Given the description of an element on the screen output the (x, y) to click on. 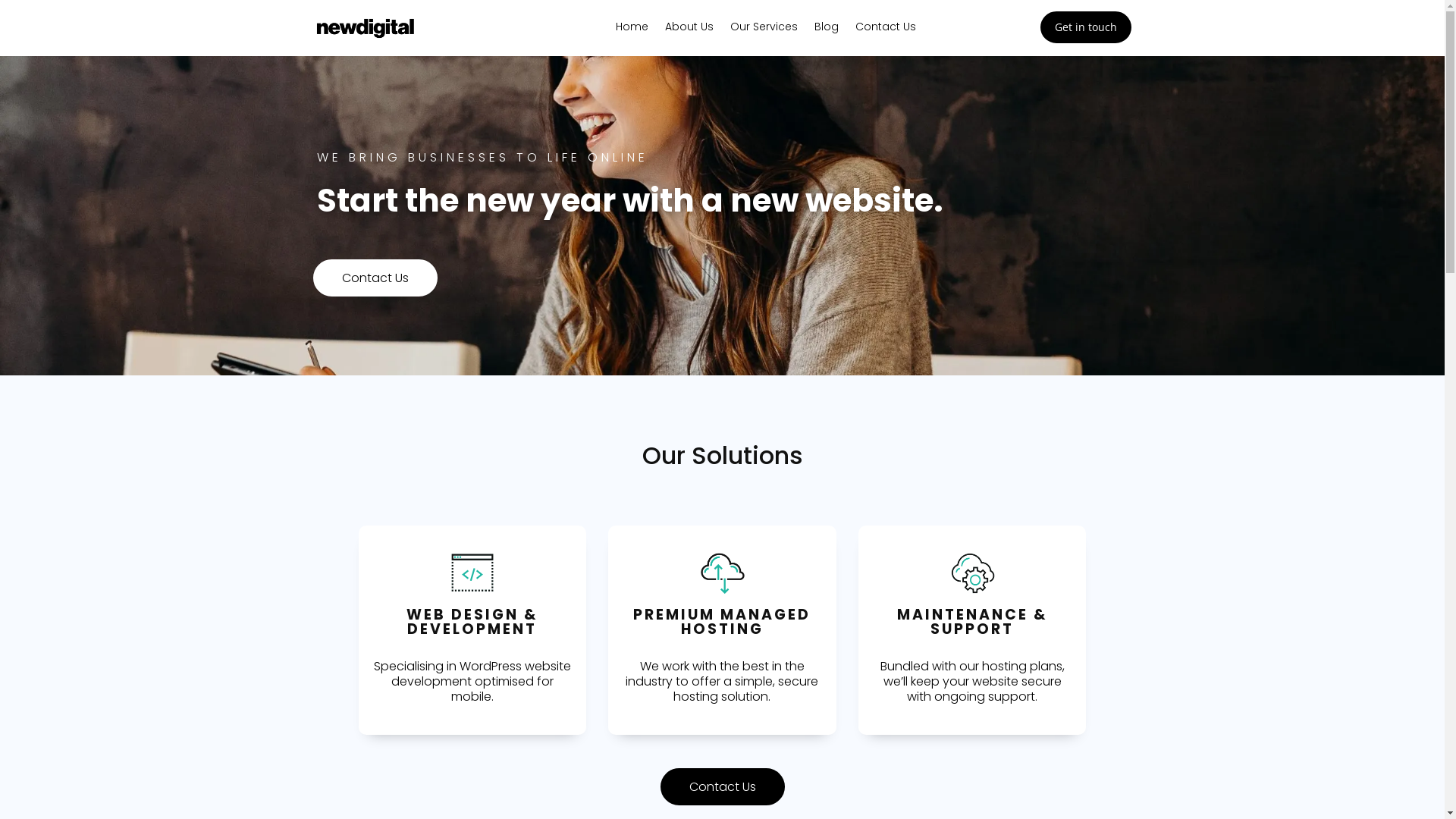
Get in touch Element type: text (1085, 27)
Blog Element type: text (826, 29)
Our Services Element type: text (763, 29)
Home Element type: text (631, 29)
Contact Us Element type: text (885, 29)
Contact Us Element type: text (374, 277)
Contact Us Element type: text (721, 786)
About Us Element type: text (689, 29)
newdigital__by Helvethical (1) Element type: hover (364, 27)
